Given the description of an element on the screen output the (x, y) to click on. 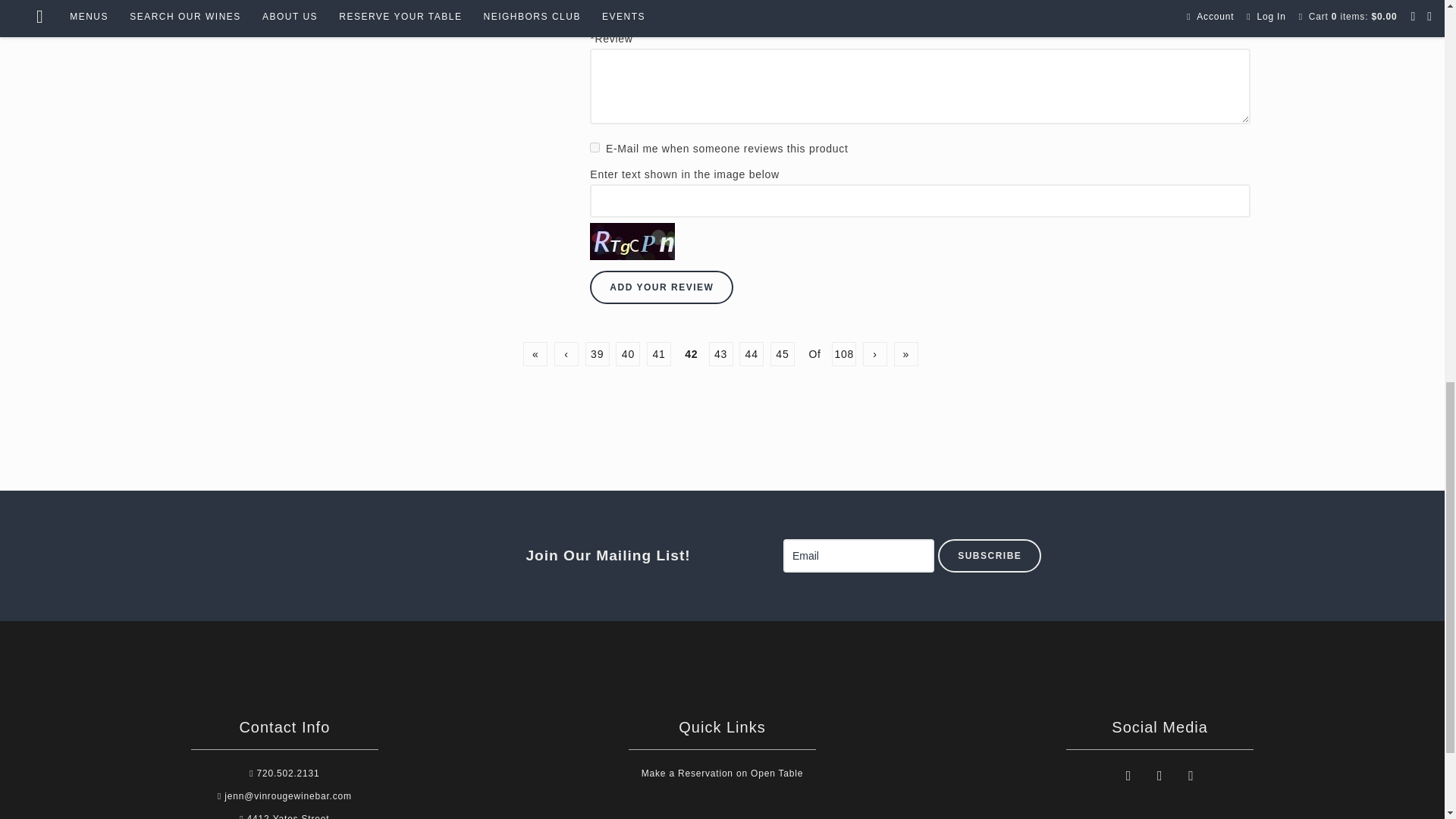
ADD YOUR REVIEW (661, 287)
1 (594, 147)
Email (858, 555)
